Given the description of an element on the screen output the (x, y) to click on. 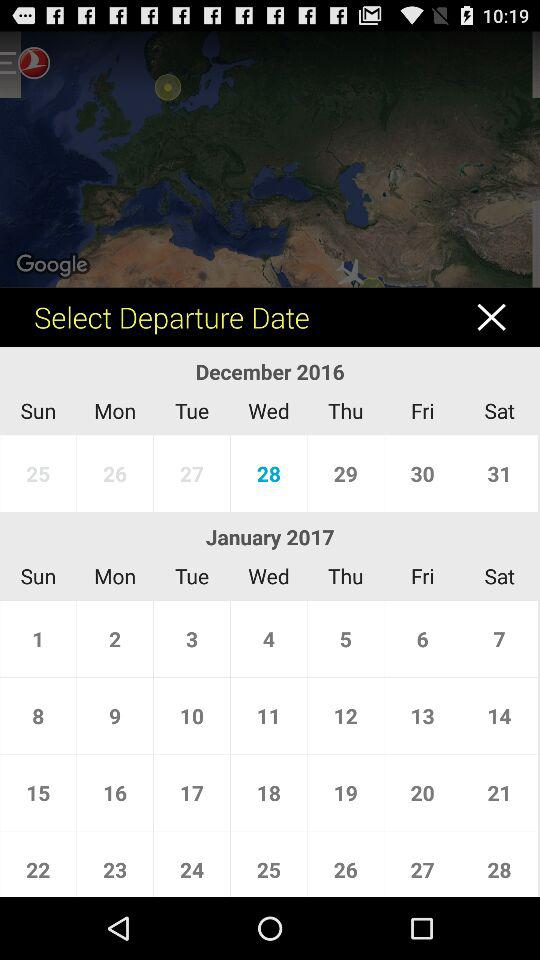
close page (501, 316)
